Given the description of an element on the screen output the (x, y) to click on. 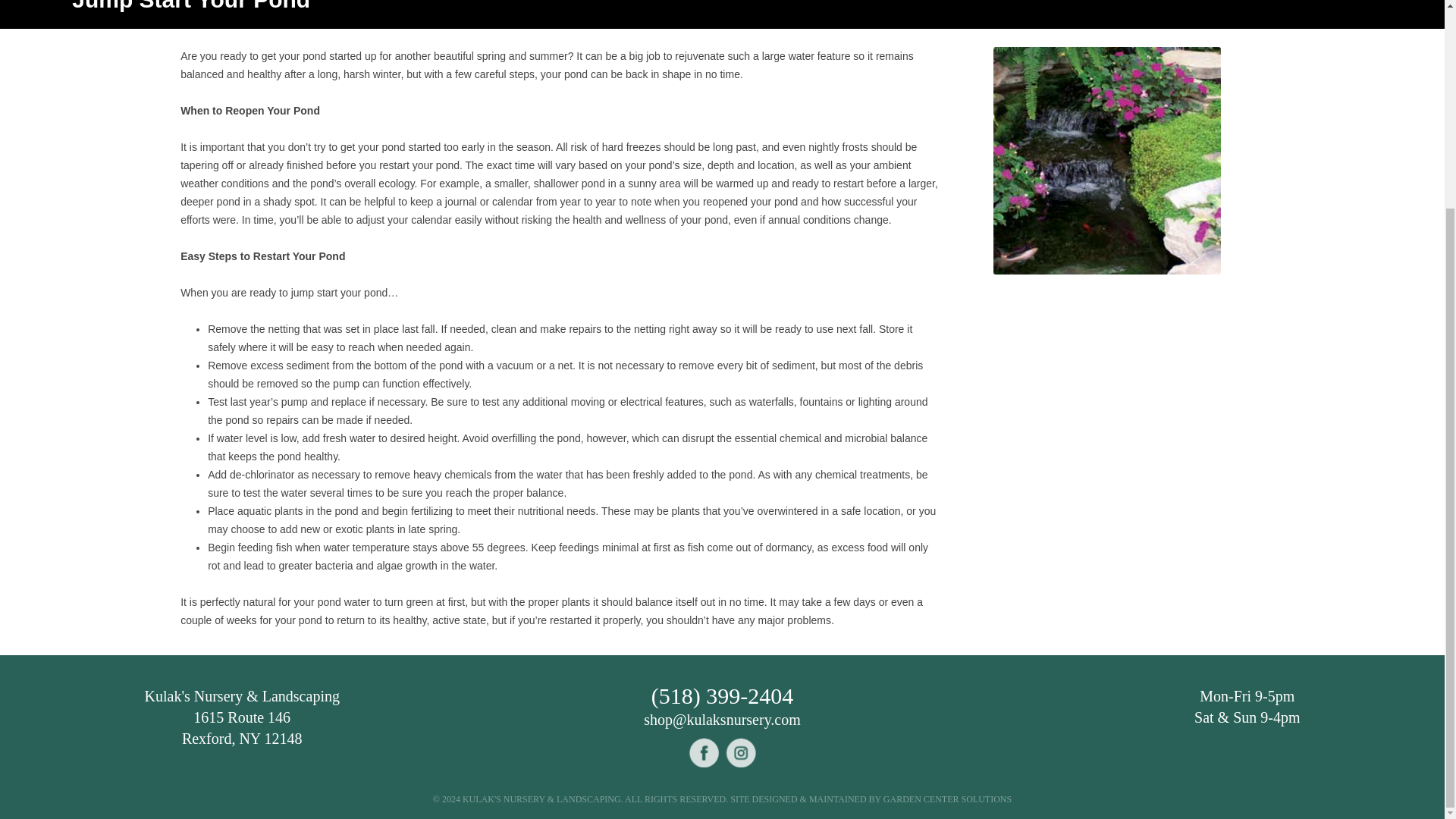
IN THE NURSERY (419, 4)
GARDEN CENTER SOLUTIONS (947, 798)
IN THE NURSERY (1043, 4)
